Given the description of an element on the screen output the (x, y) to click on. 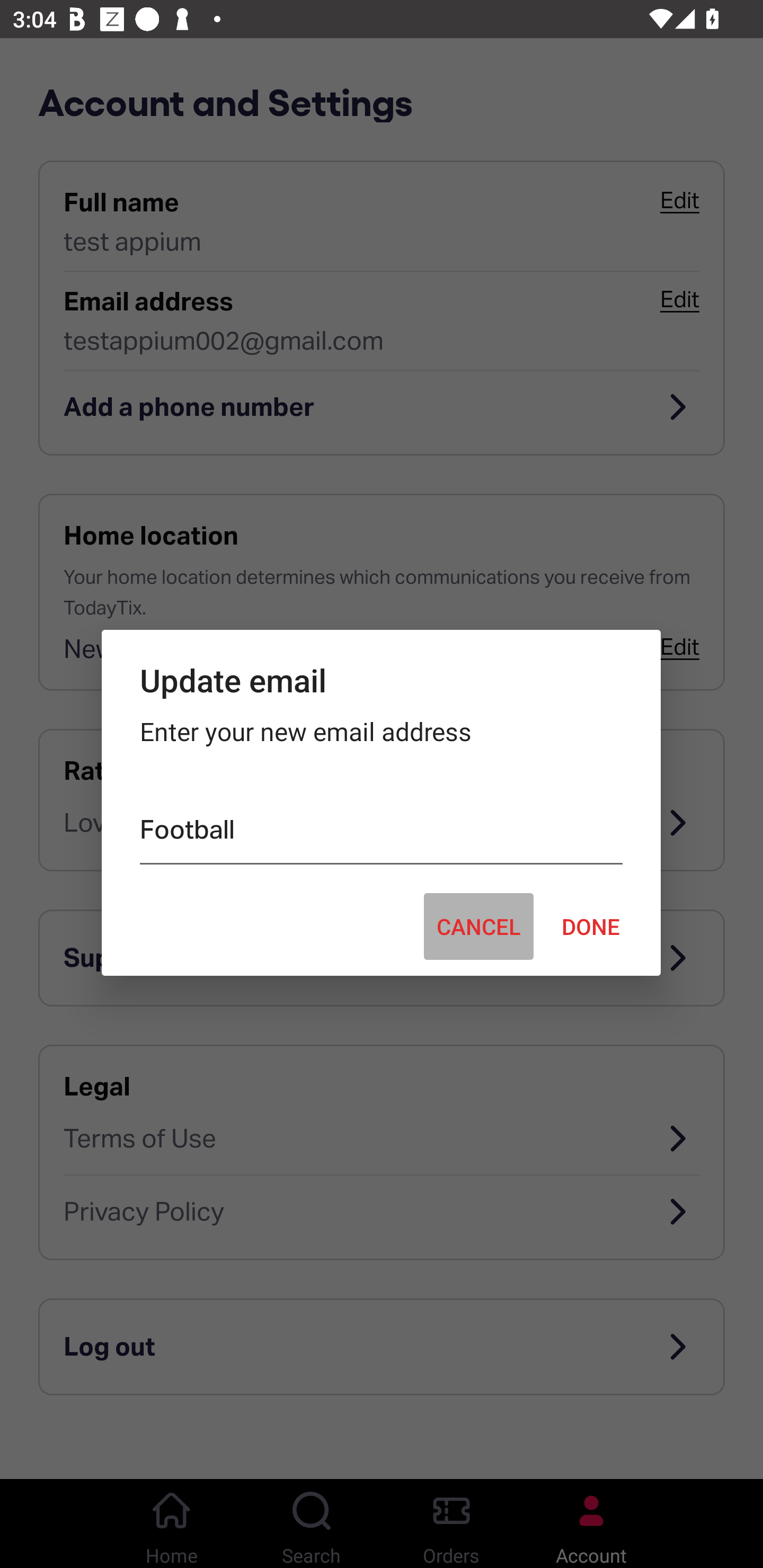
Football (380, 833)
CANCEL (478, 926)
DONE (590, 926)
